Given the description of an element on the screen output the (x, y) to click on. 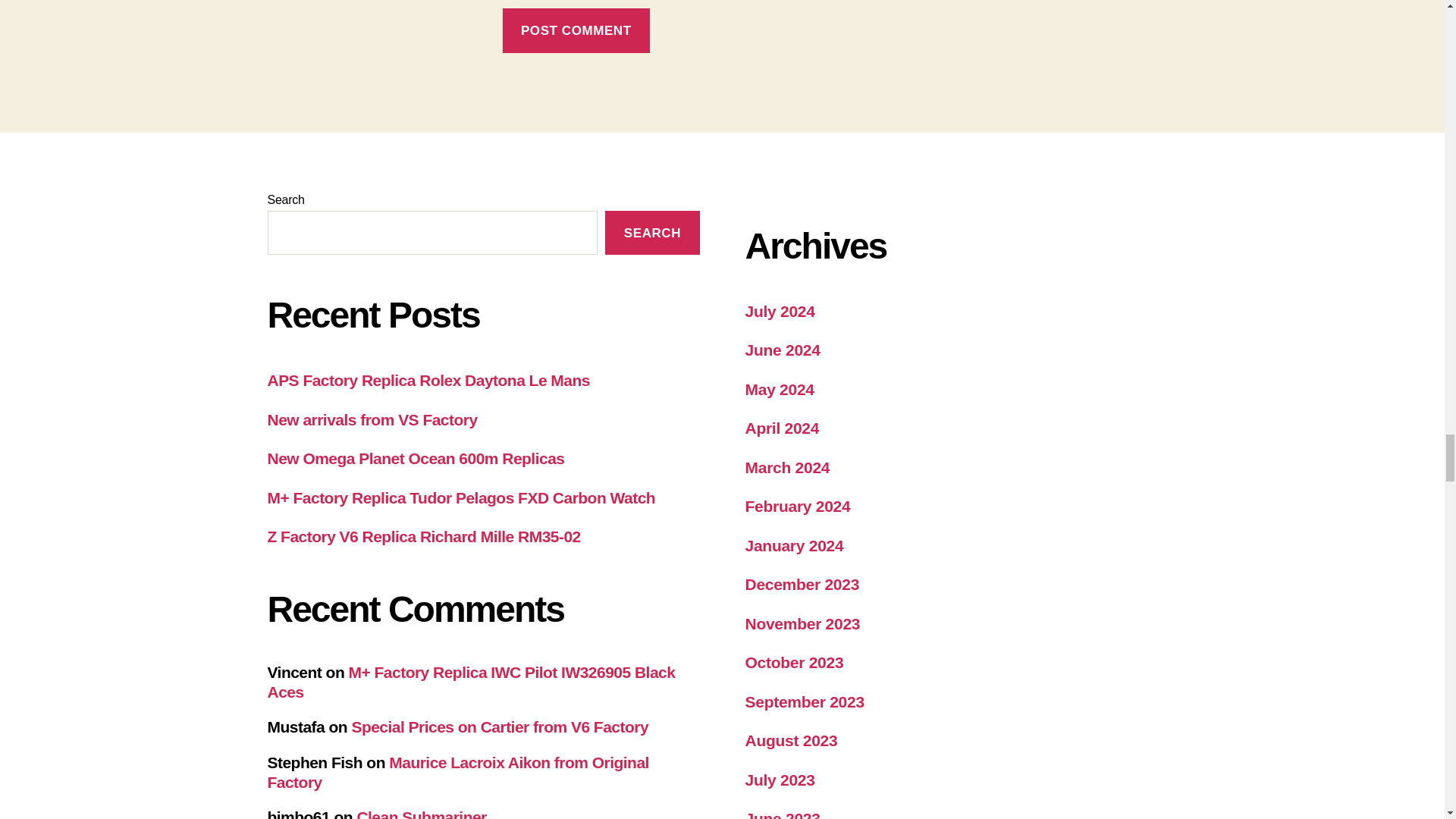
SEARCH (651, 232)
Special Prices on Cartier from V6 Factory (498, 726)
Maurice Lacroix Aikon from Original Factory (456, 772)
Clean Submariner (421, 813)
APS Factory Replica Rolex Daytona Le Mans (427, 380)
New Omega Planet Ocean 600m Replicas (415, 457)
Z Factory V6 Replica Richard Mille RM35-02 (422, 536)
New arrivals from VS Factory (371, 419)
Post Comment (575, 30)
Post Comment (575, 30)
